Given the description of an element on the screen output the (x, y) to click on. 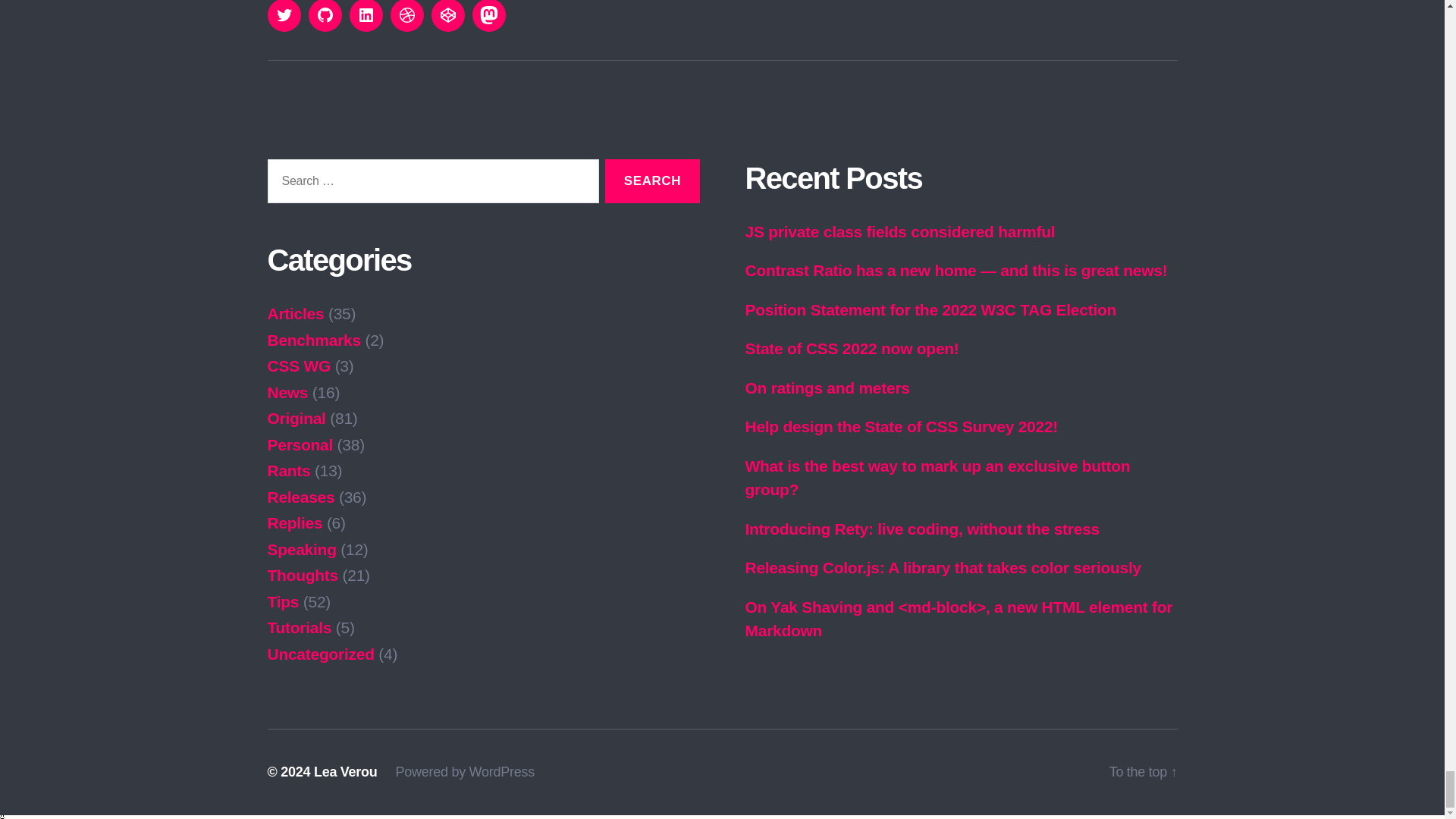
Search (651, 180)
Search (651, 180)
